Given the description of an element on the screen output the (x, y) to click on. 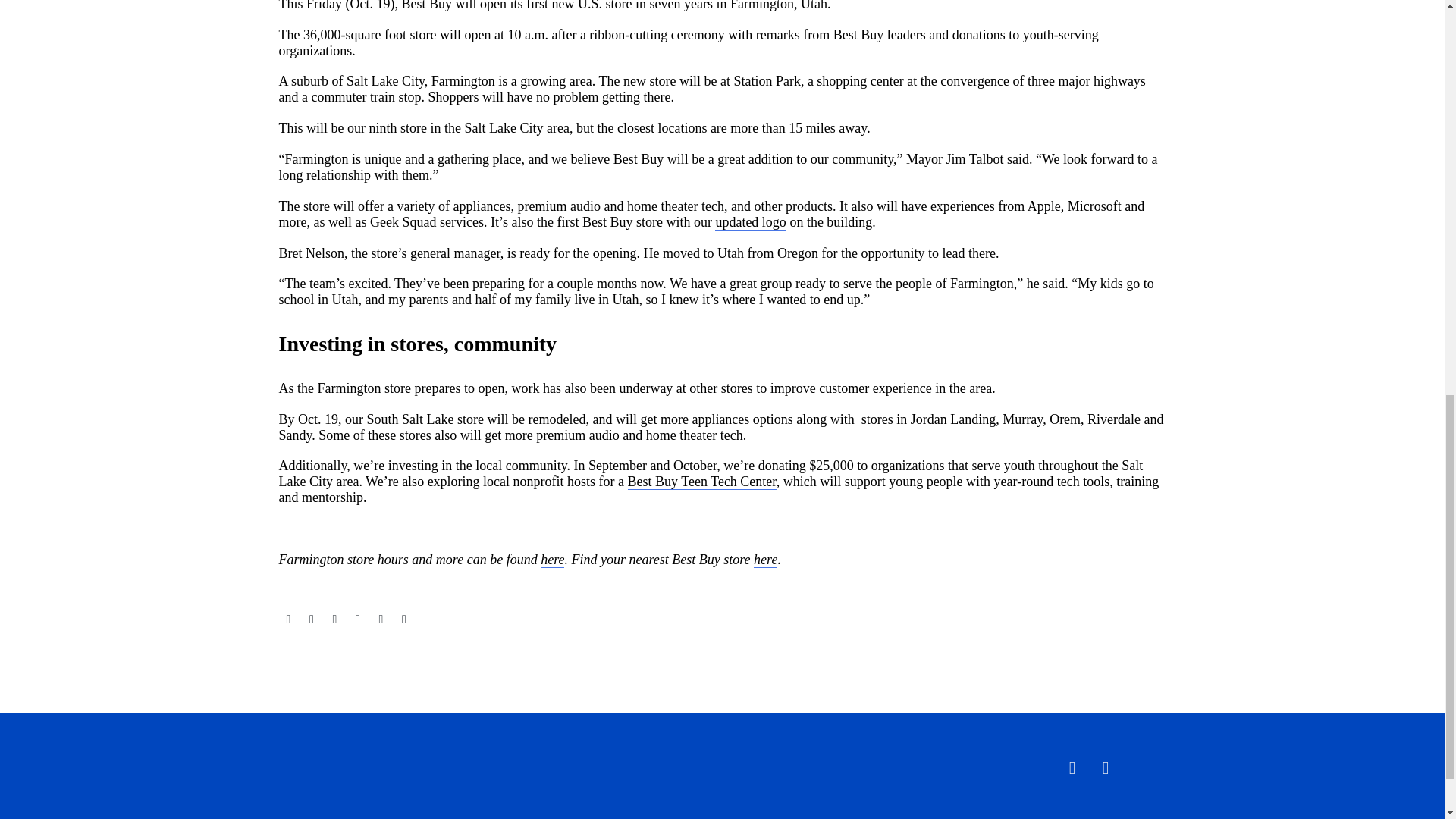
Pinterest (334, 619)
here (552, 560)
Twitter (311, 619)
Reddit (403, 619)
Facebook (288, 619)
Best Buy Teen Tech Center (701, 481)
here (765, 560)
LinkedIn (380, 619)
Tumblr (358, 619)
updated logo (750, 222)
